Given the description of an element on the screen output the (x, y) to click on. 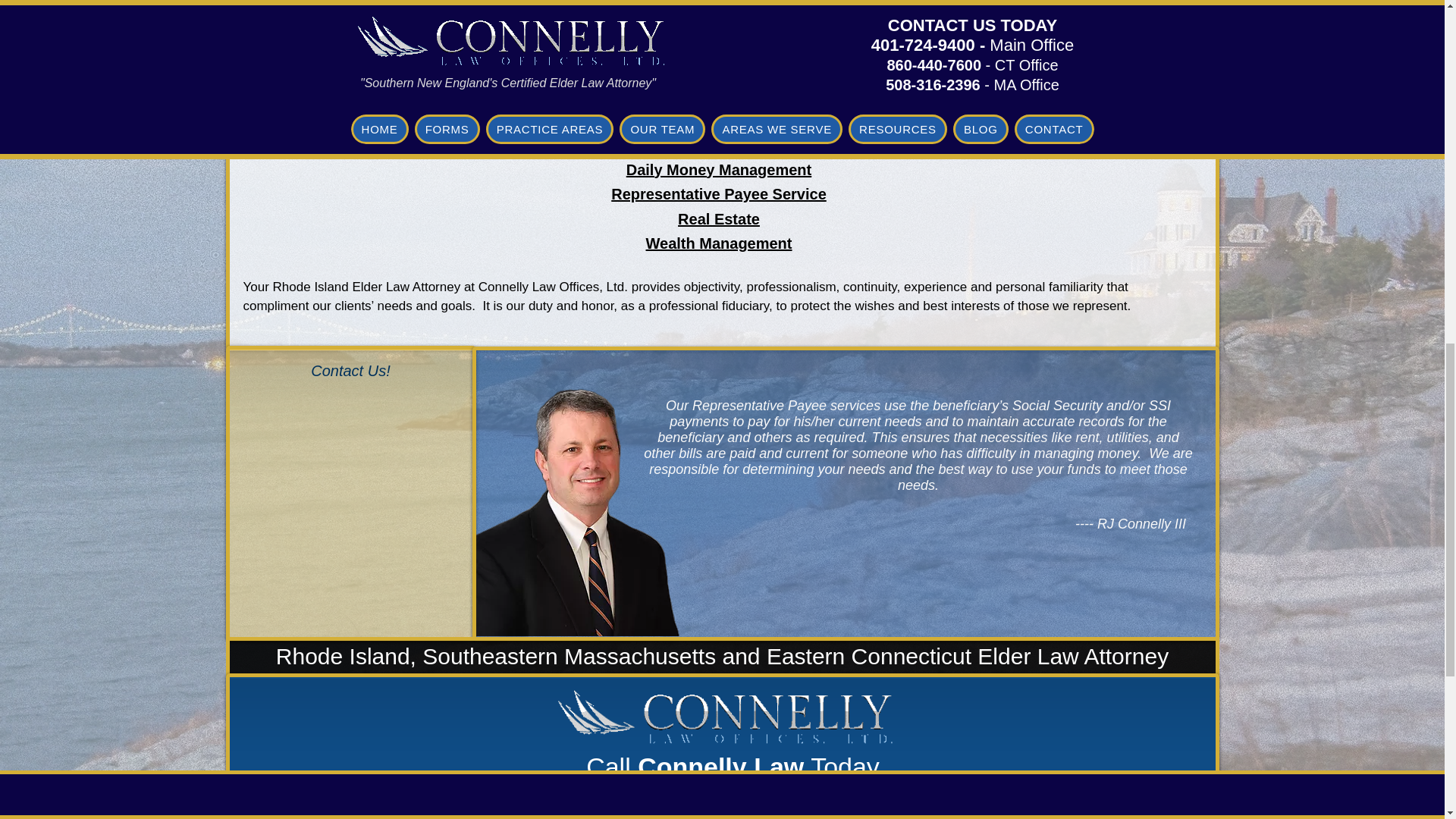
Guardianships (718, 22)
Real Estate (719, 219)
Estate Administration (718, 71)
Trust Administration (719, 96)
Special Needs Trust Administration (718, 120)
Daily Money Management (719, 170)
Rhode Island Elder Law Attorney (721, 716)
Conservatorships (718, 47)
Representative Payee Service (719, 195)
Power of Attorney (718, 145)
